Given the description of an element on the screen output the (x, y) to click on. 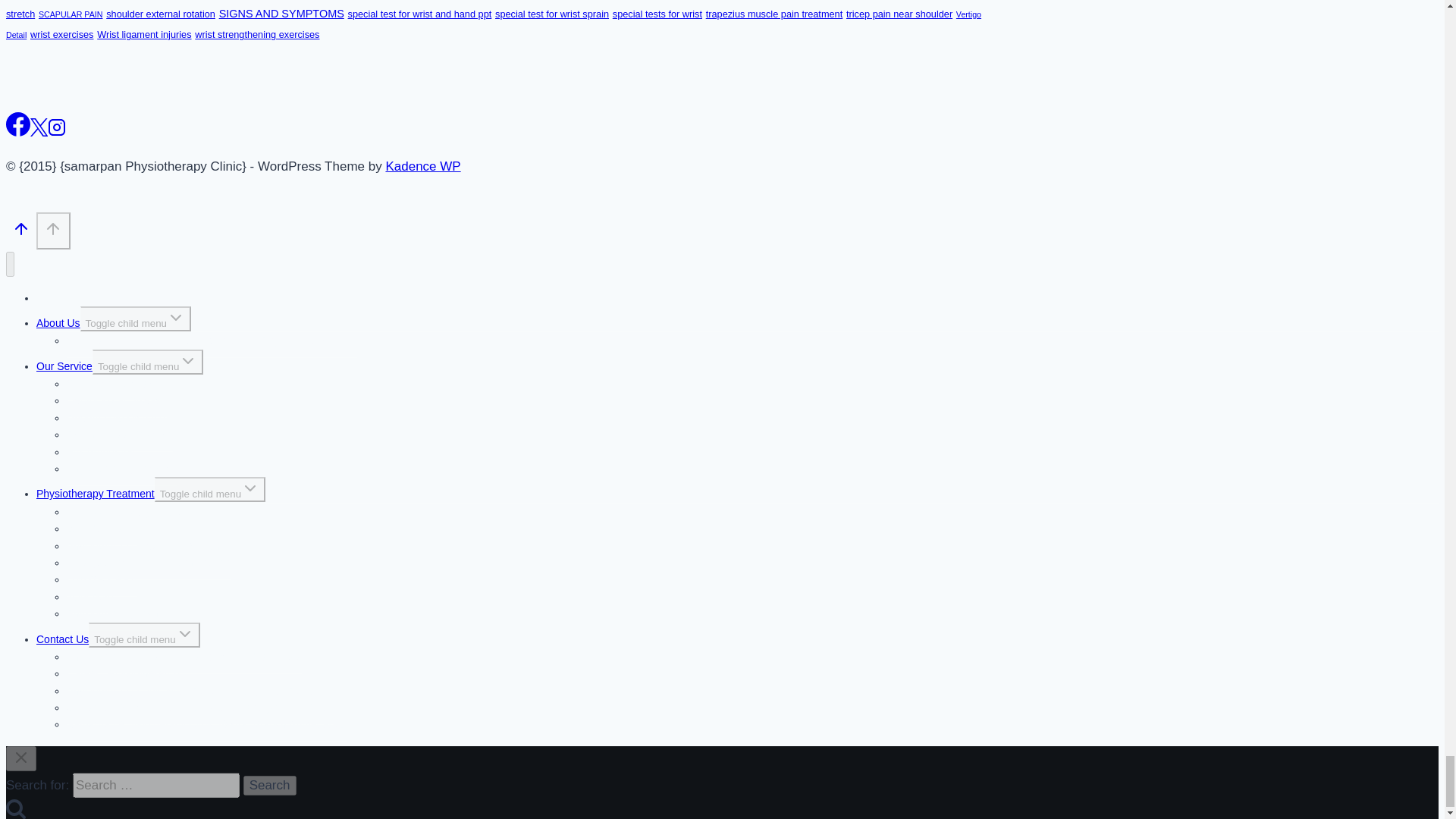
Search (270, 785)
Scroll to top (52, 230)
Scroll to top (20, 232)
Search (270, 785)
